Given the description of an element on the screen output the (x, y) to click on. 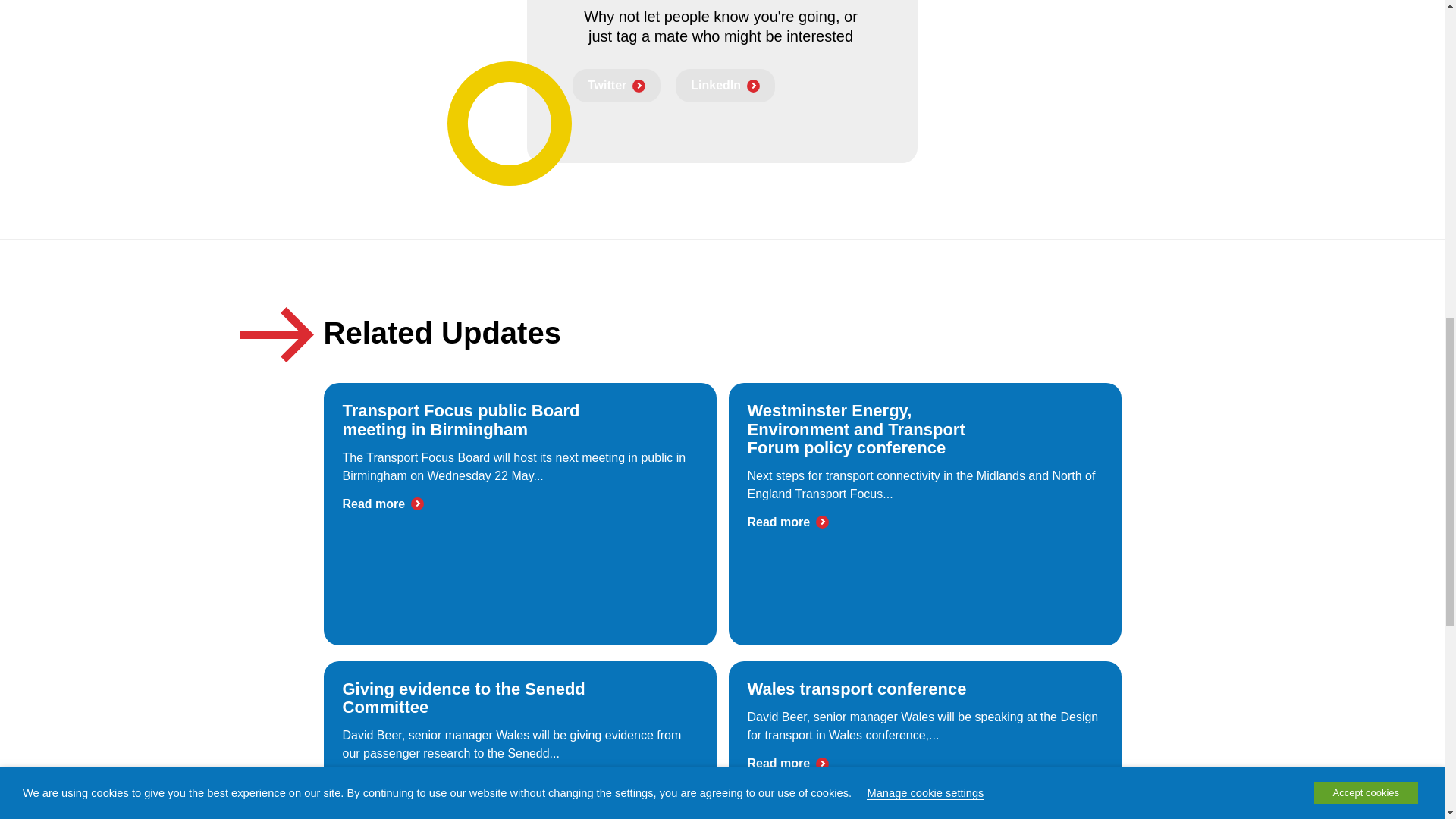
LinkedIn (724, 85)
Twitter (616, 85)
